Given the description of an element on the screen output the (x, y) to click on. 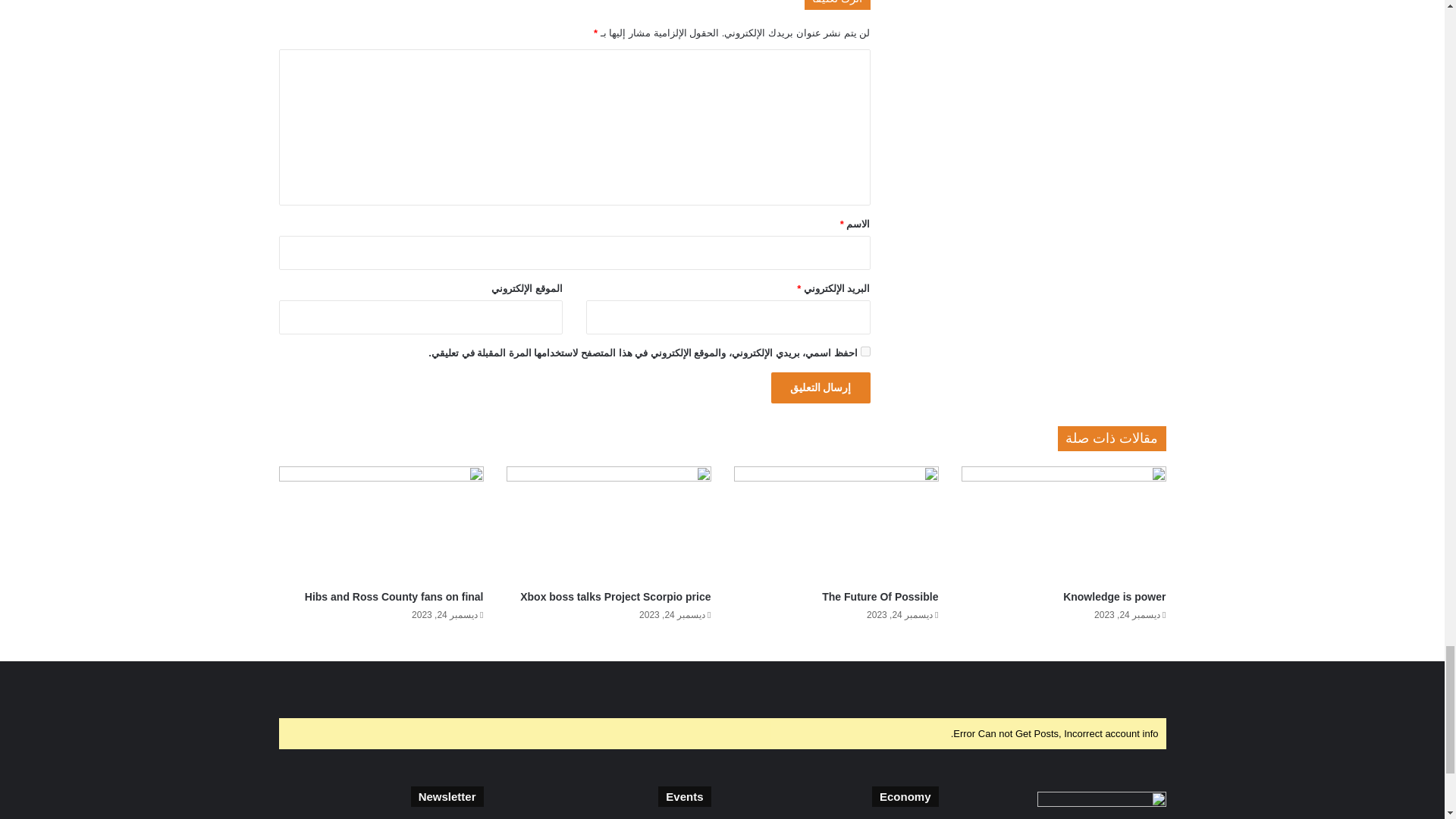
yes (864, 351)
